Given the description of an element on the screen output the (x, y) to click on. 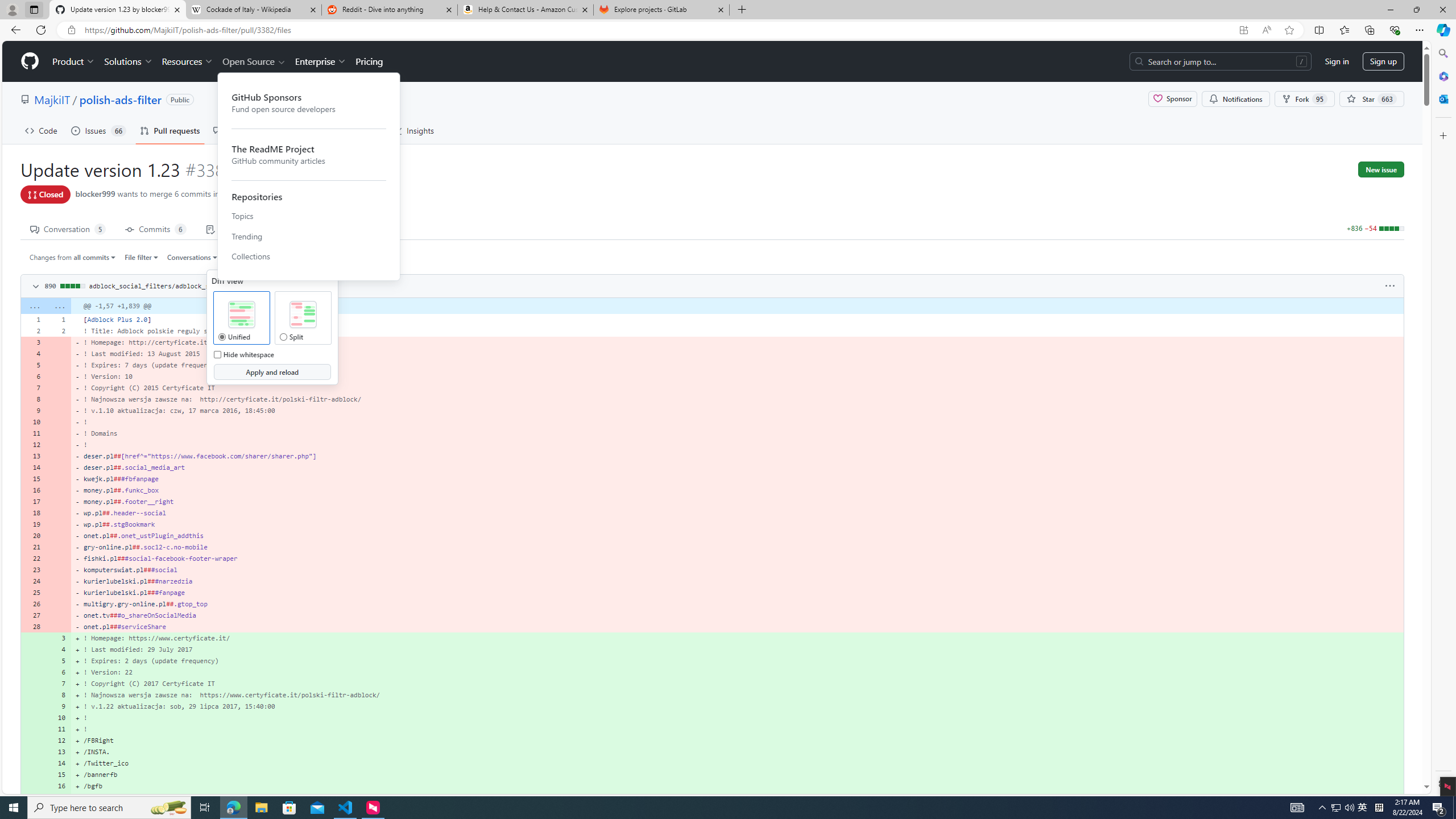
Enterprise (319, 60)
Pull requests (170, 130)
26 (33, 603)
Issues66 (98, 130)
22 (33, 558)
 Checks 0 (232, 228)
Sponsor (1171, 98)
- kurierlubelski.pl###fanpage (737, 592)
Class: show-top-border (711, 797)
+ ! Last modified: 29 July 2017 (737, 649)
Conversations (192, 257)
+ /bannerfb  (737, 774)
Fork 95 (1304, 98)
